Given the description of an element on the screen output the (x, y) to click on. 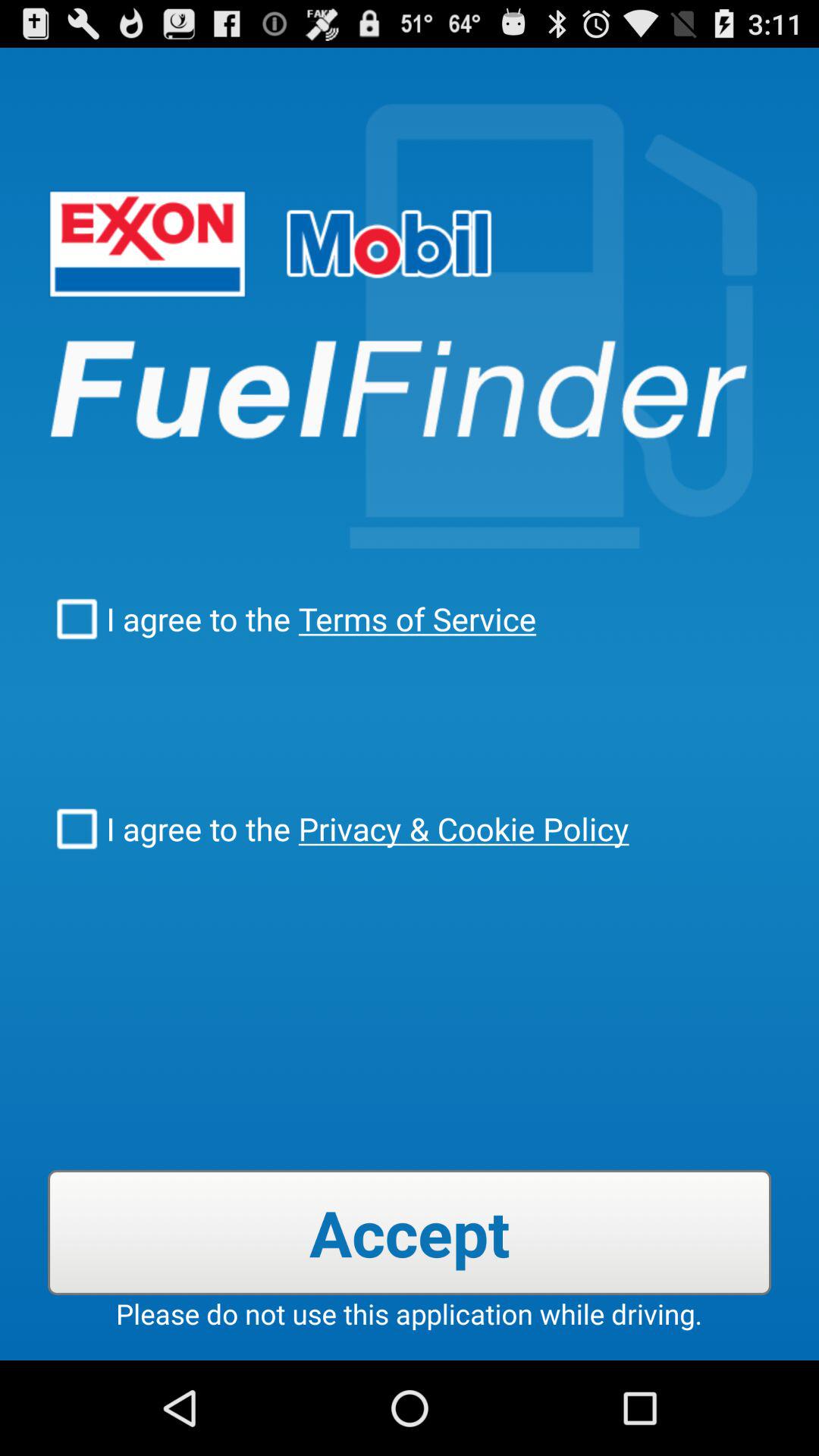
jump until accept item (409, 1232)
